Given the description of an element on the screen output the (x, y) to click on. 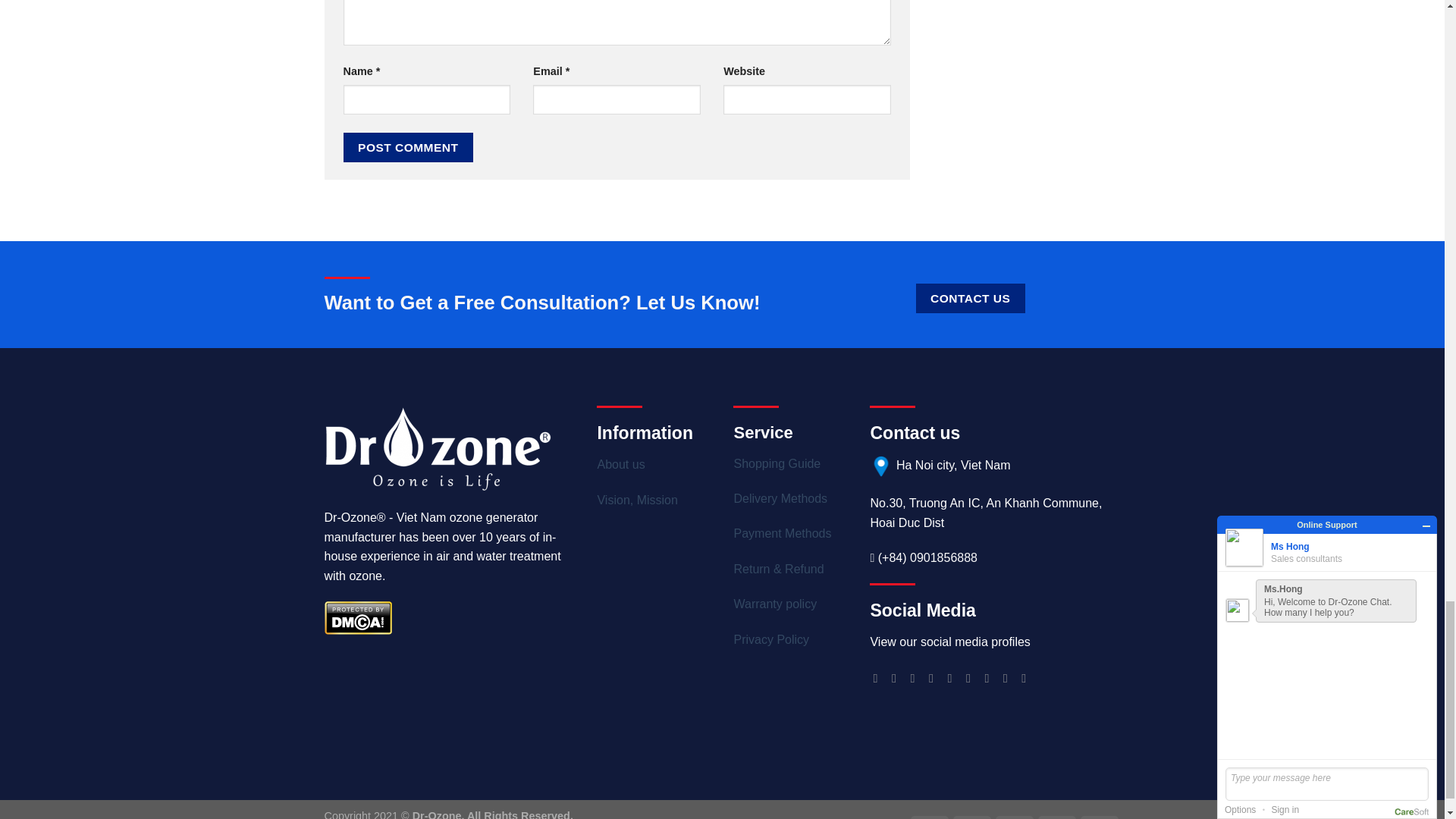
Post Comment (407, 147)
